Given the description of an element on the screen output the (x, y) to click on. 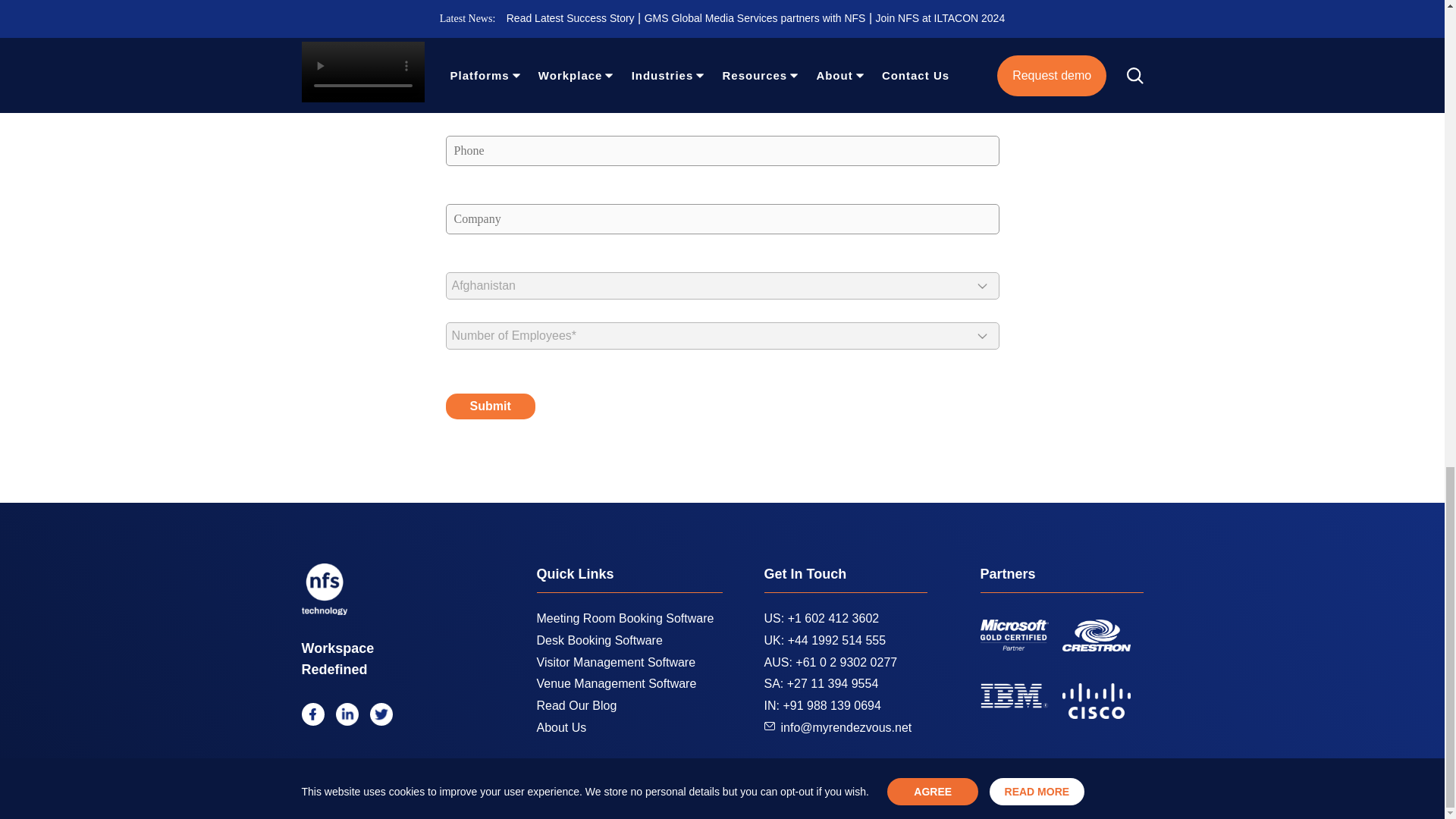
Submit (490, 406)
